Given the description of an element on the screen output the (x, y) to click on. 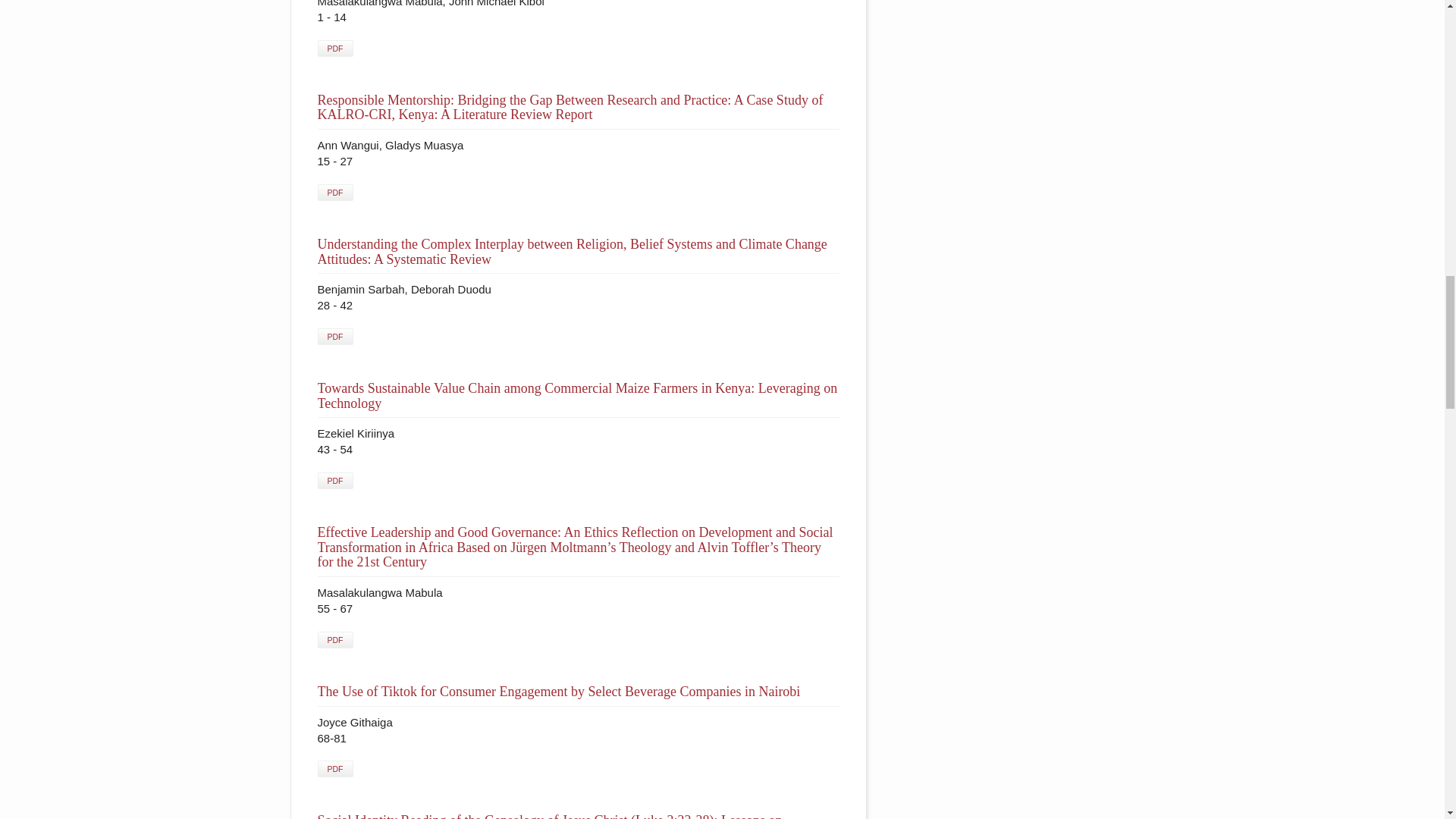
PDF (334, 768)
PDF (334, 48)
PDF (334, 639)
PDF (334, 336)
PDF (334, 192)
PDF (334, 480)
